Given the description of an element on the screen output the (x, y) to click on. 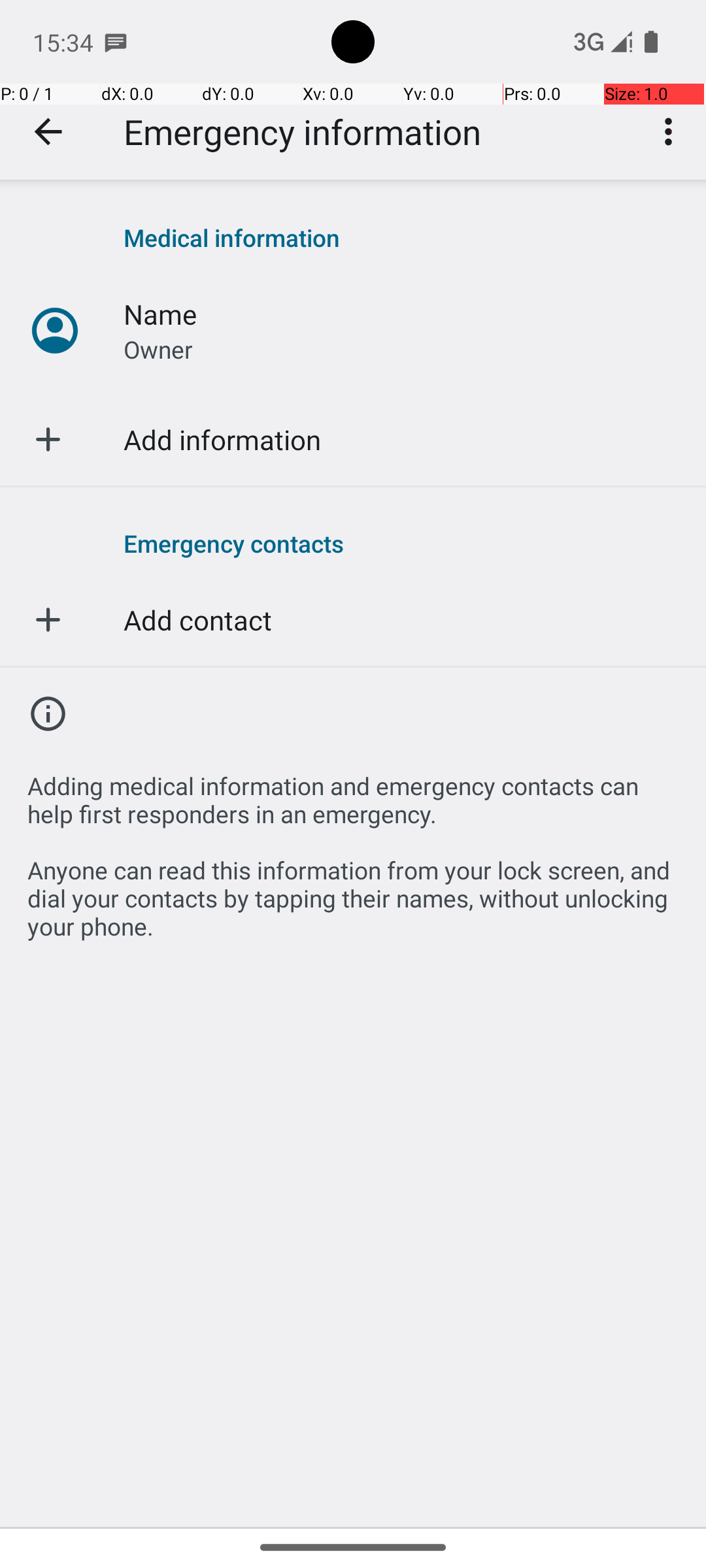
Emergency information Element type: android.widget.TextView (302, 131)
Medical information Element type: android.widget.TextView (400, 237)
Owner Element type: android.widget.TextView (157, 348)
Add information Element type: android.widget.TextView (221, 438)
Emergency contacts Element type: android.widget.TextView (400, 542)
Add contact Element type: android.widget.TextView (197, 619)
Adding medical information and emergency contacts can help first responders in an emergency.

Anyone can read this information from your lock screen, and dial your contacts by tapping their names, without unlocking your phone. Element type: android.widget.TextView (352, 848)
